Given the description of an element on the screen output the (x, y) to click on. 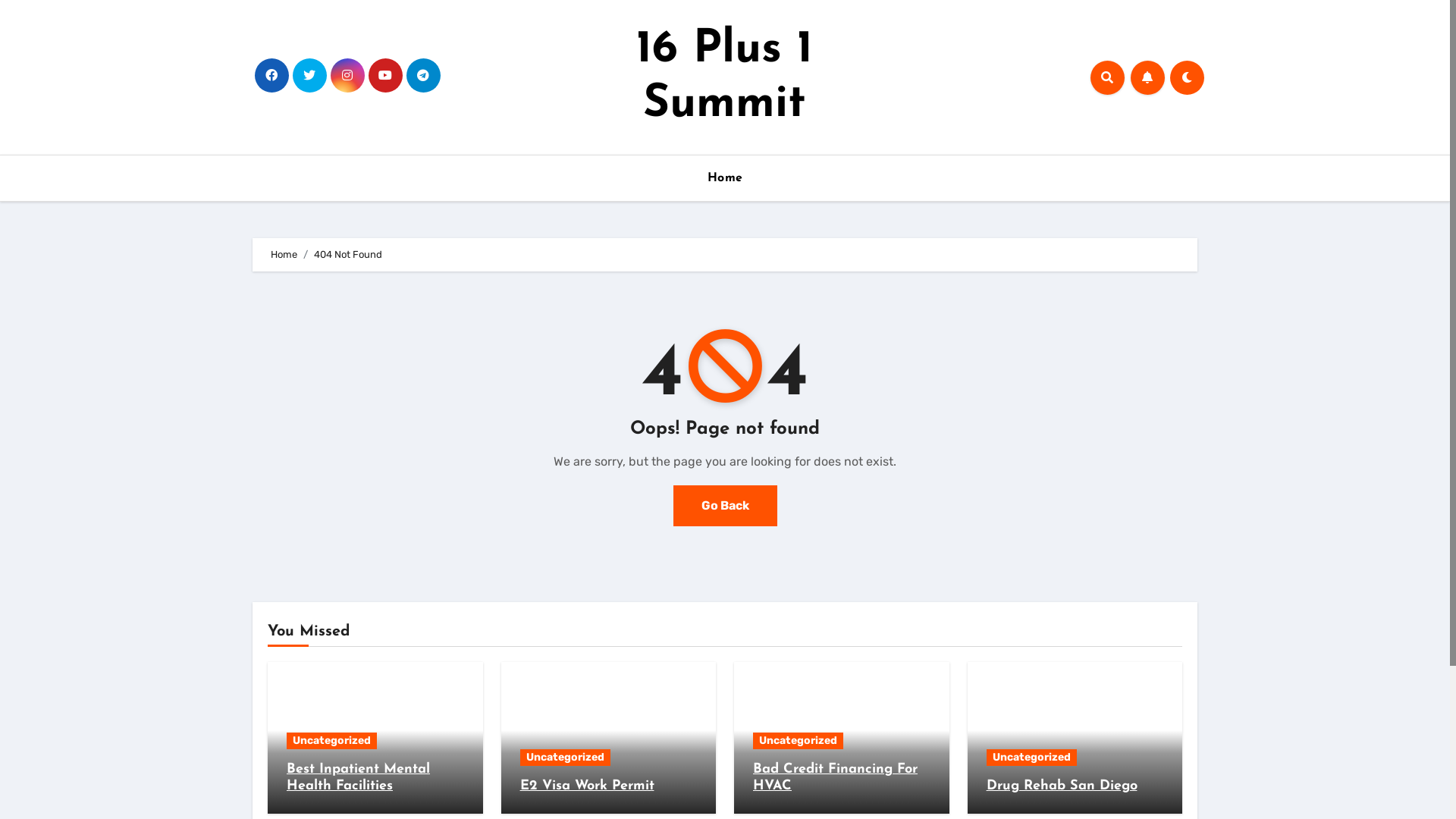
E2 Visa Work Permit Element type: text (587, 785)
Home Element type: text (283, 254)
Uncategorized Element type: text (798, 740)
Uncategorized Element type: text (331, 740)
Uncategorized Element type: text (565, 757)
Home Element type: text (725, 177)
Go Back Element type: text (725, 505)
Uncategorized Element type: text (1030, 757)
16 Plus 1 Summit Element type: text (724, 77)
Bad Credit Financing For HVAC Element type: text (835, 777)
Best Inpatient Mental Health Facilities Element type: text (357, 777)
Drug Rehab San Diego Element type: text (1060, 785)
